Given the description of an element on the screen output the (x, y) to click on. 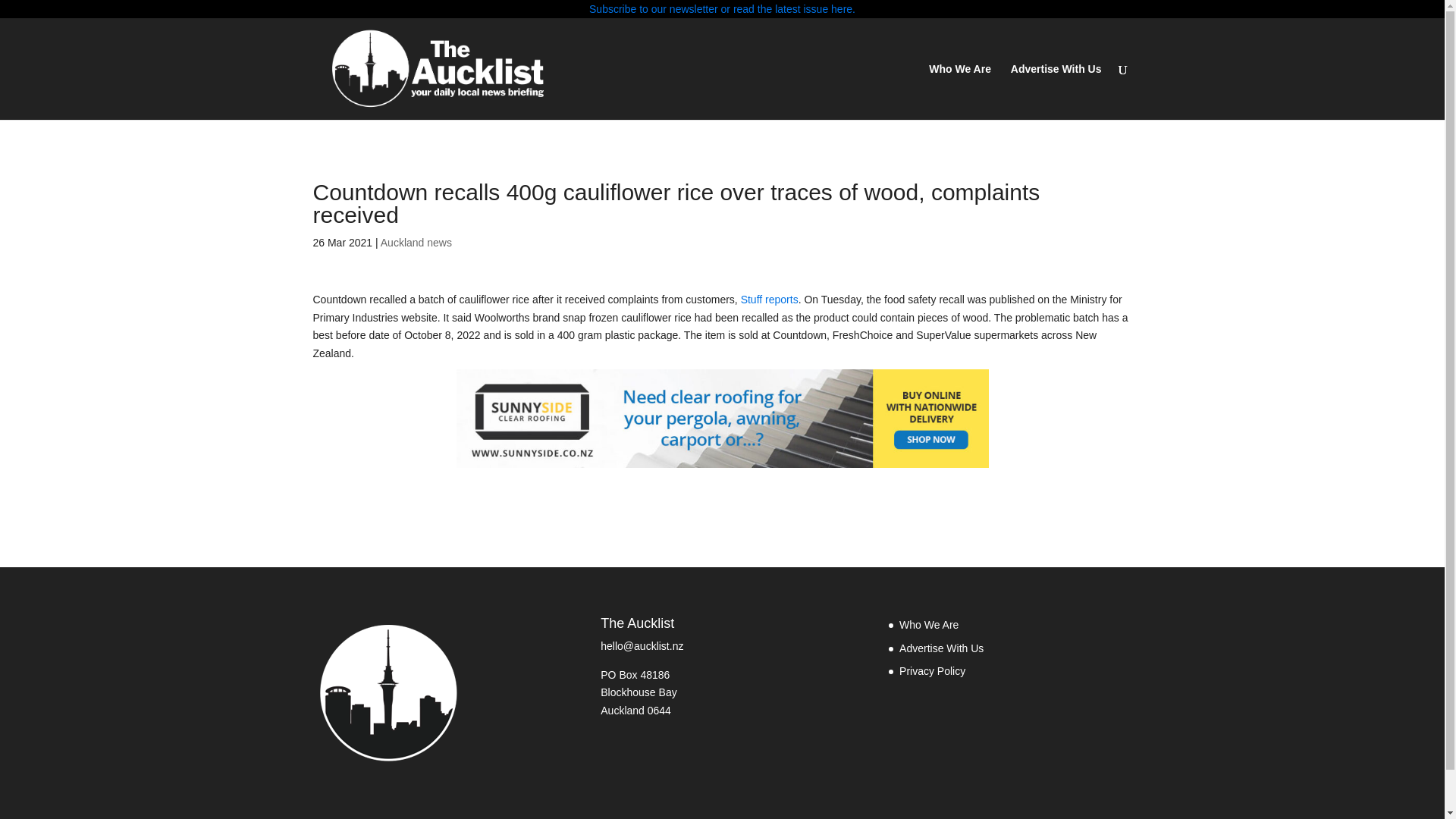
Auckland news (415, 242)
Subscribe to our newsletter or read the latest issue here. (722, 9)
Advertise With Us (1056, 91)
Advertise With Us (941, 648)
Stuff reports (769, 299)
Who We Are (928, 624)
Who We Are (959, 91)
Privacy Policy (932, 671)
